Given the description of an element on the screen output the (x, y) to click on. 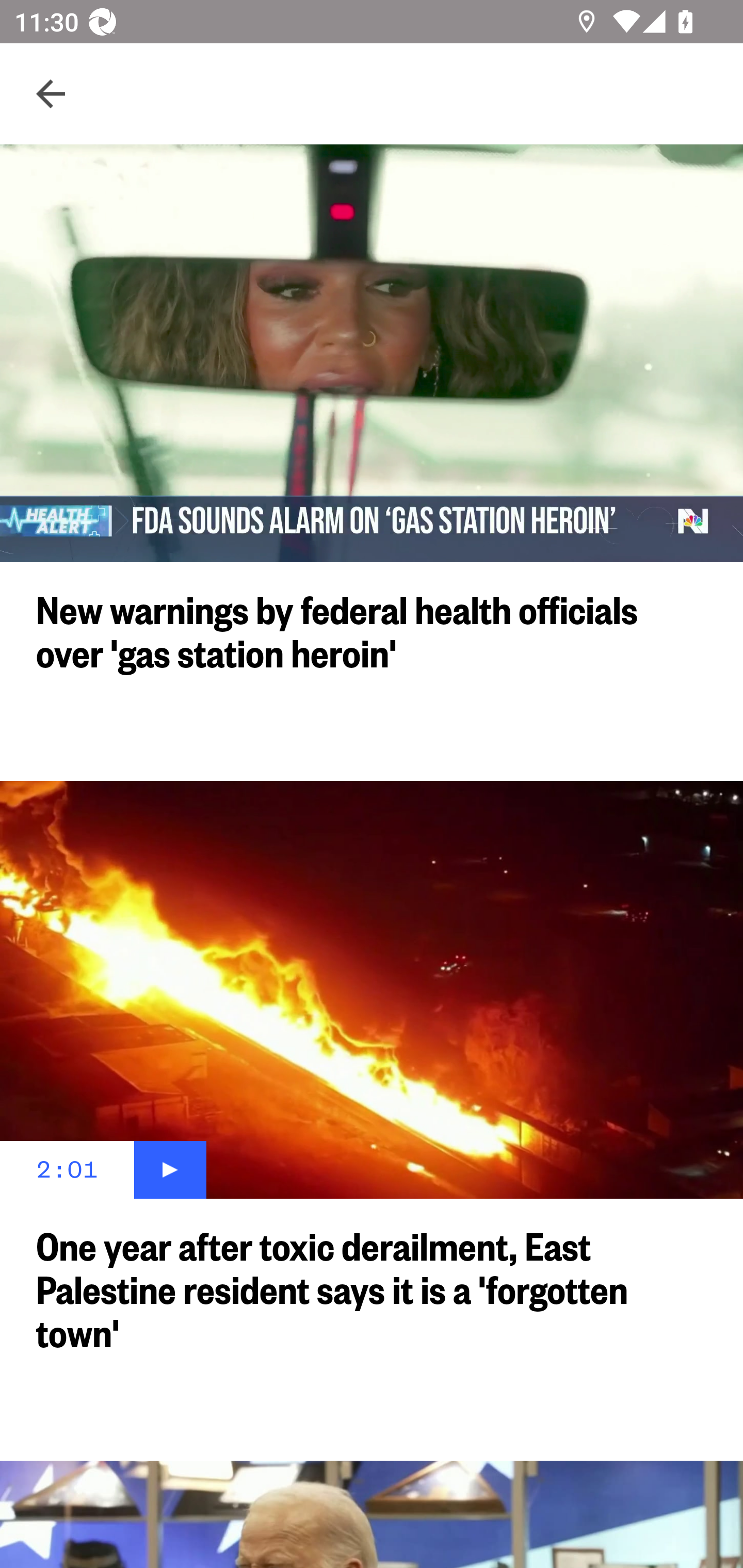
Navigate up (50, 93)
